Given the description of an element on the screen output the (x, y) to click on. 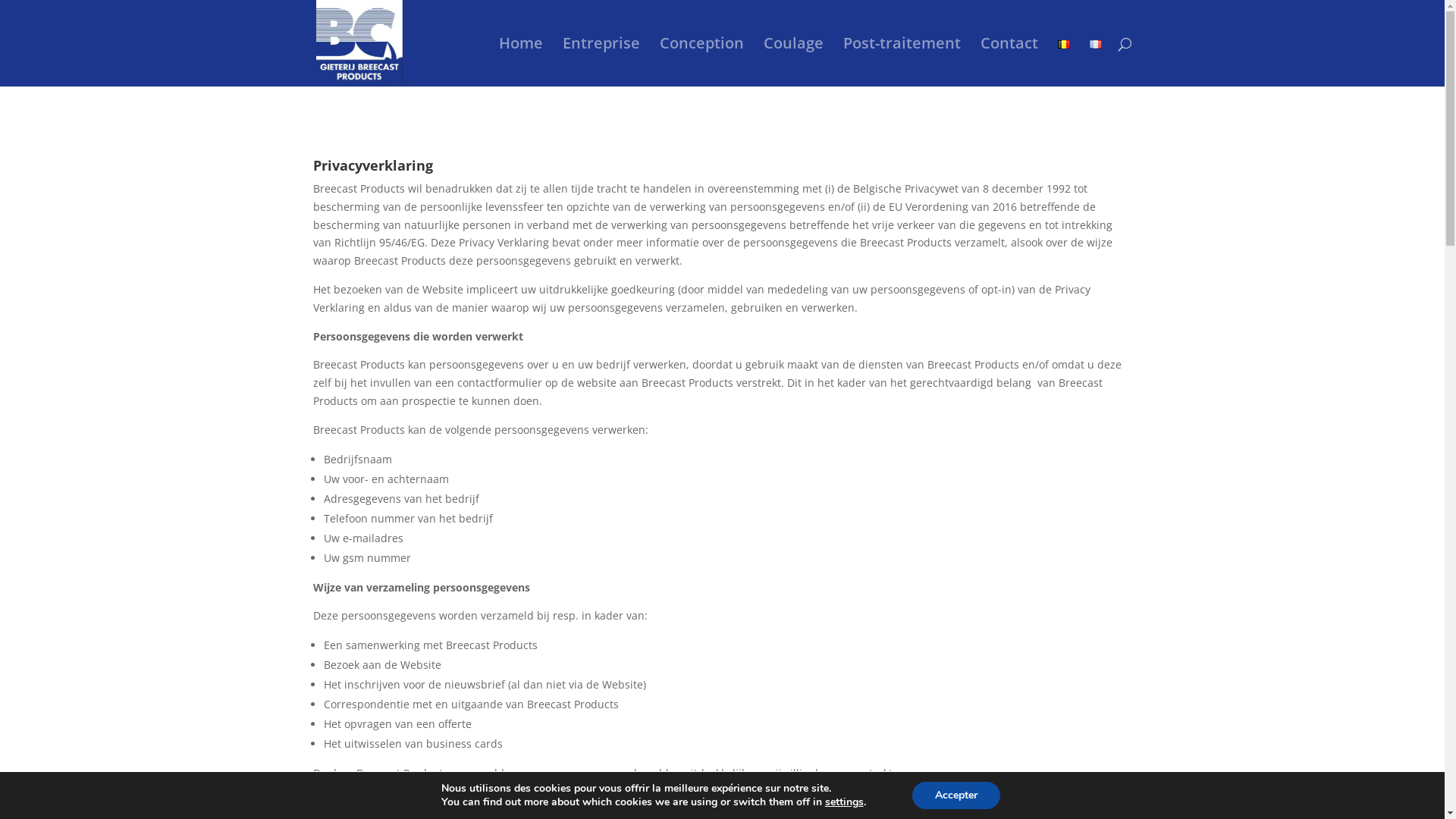
settings Element type: text (844, 802)
Conception Element type: text (701, 61)
Entreprise Element type: text (601, 61)
Accepter Element type: text (956, 795)
Contact Element type: text (1008, 61)
Home Element type: text (520, 61)
Post-traitement Element type: text (901, 61)
Coulage Element type: text (792, 61)
